Given the description of an element on the screen output the (x, y) to click on. 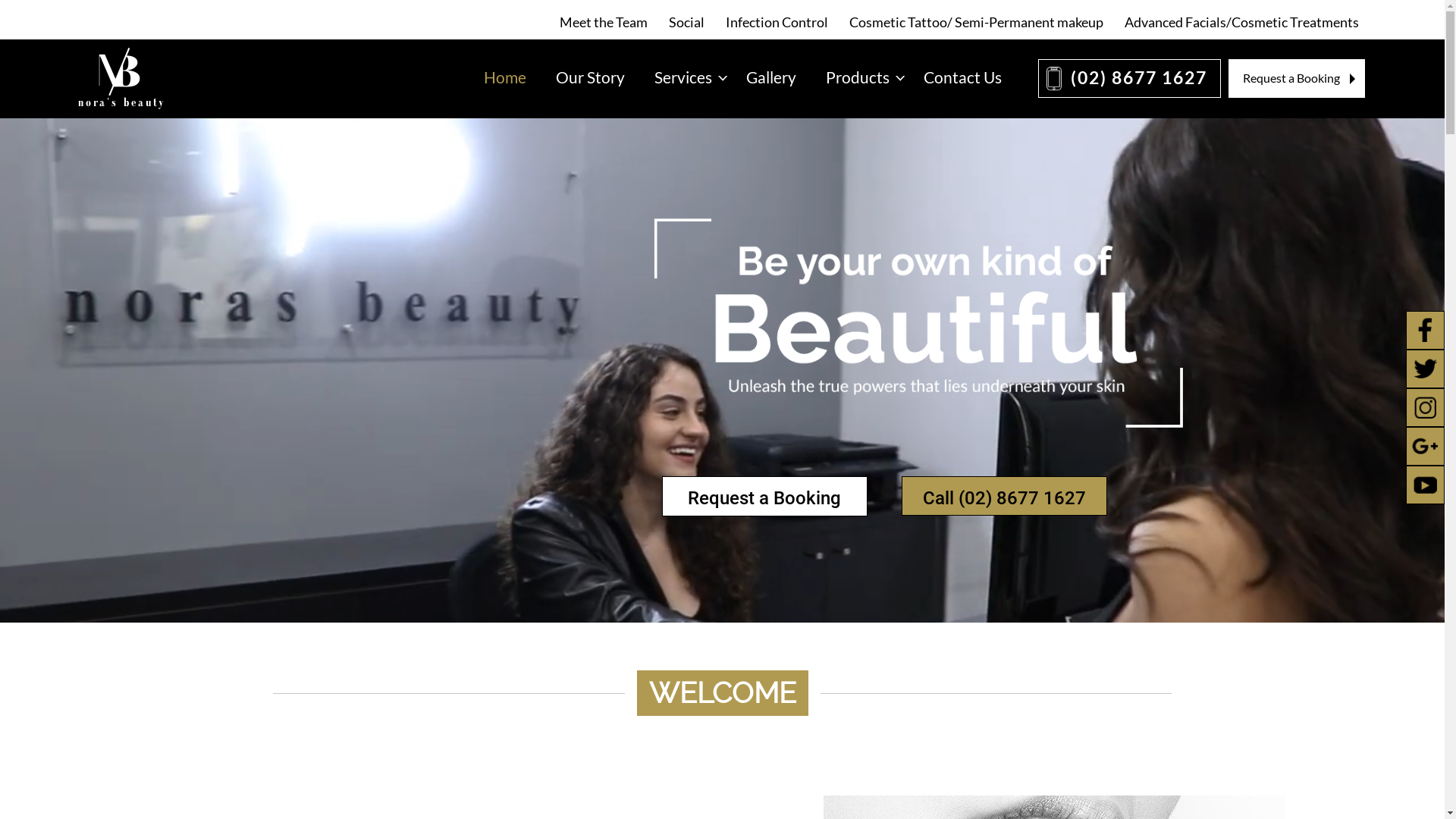
Twitter Element type: hover (1424, 368)
Social Element type: text (686, 21)
Call (02) 8677 1627 Element type: text (1003, 495)
Our Story Element type: text (589, 77)
Products Element type: text (859, 77)
Infection Control Element type: text (775, 21)
(02) 8677 1627 Element type: text (1128, 78)
Services Element type: text (685, 77)
nora's beauty Element type: text (122, 78)
Request a Booking Element type: text (763, 496)
Nora's Beauty Element type: hover (121, 71)
Gallery Element type: text (770, 77)
Youtube Element type: hover (1424, 484)
Instagram Element type: hover (1424, 407)
Facebook Element type: hover (1424, 329)
Contact Us Element type: text (964, 77)
Meet the Team Element type: text (603, 21)
Advanced Facials/Cosmetic Treatments Element type: text (1240, 21)
Home Element type: text (504, 77)
Request a Booking Element type: text (1296, 78)
Cosmetic Tattoo/ Semi-Permanent makeup Element type: text (975, 21)
Google Plus Element type: hover (1424, 445)
